Given the description of an element on the screen output the (x, y) to click on. 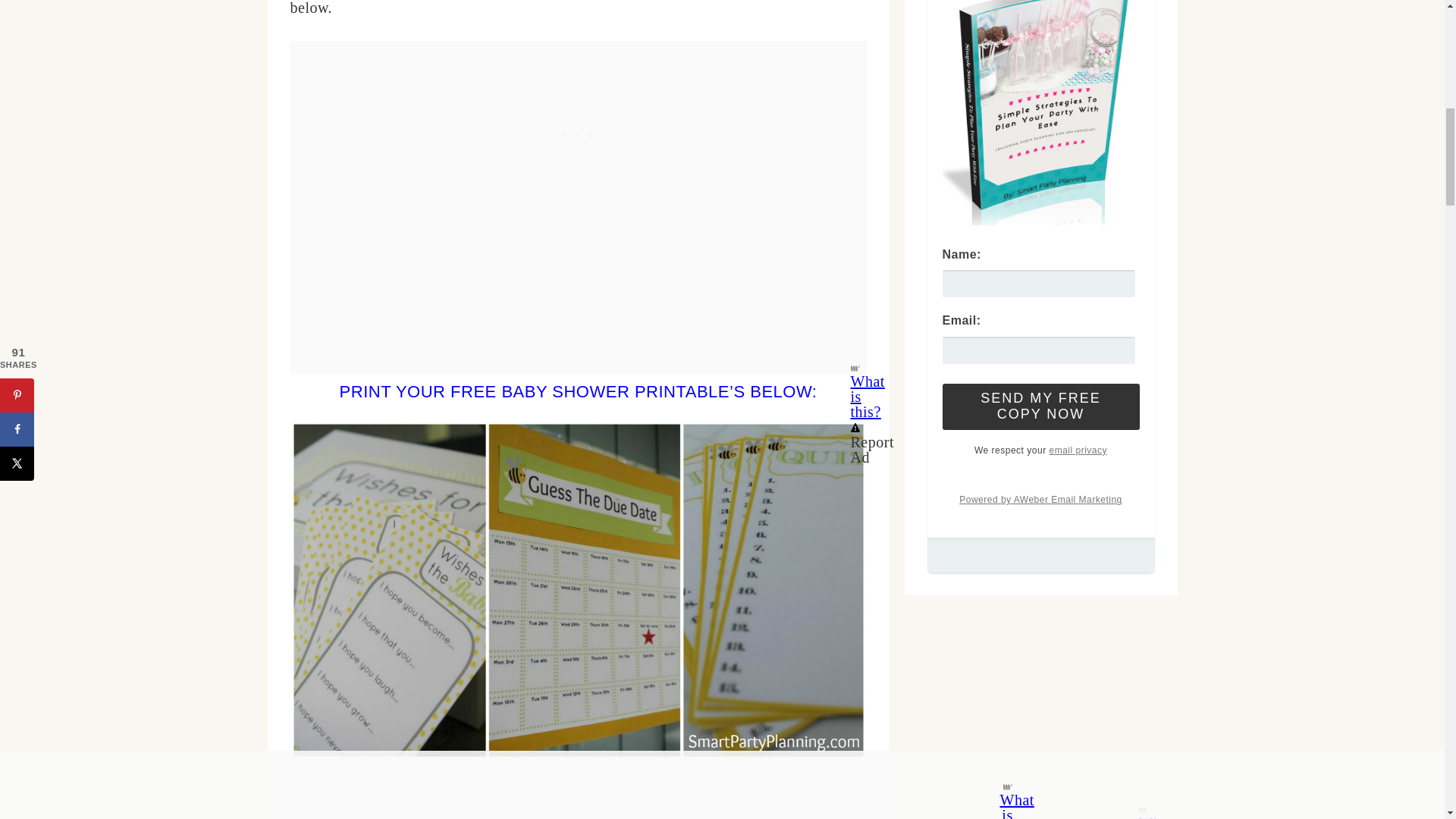
3rd party ad content (577, 800)
AWeber Email Marketing (1040, 499)
Send My FREE Copy NOW (1040, 406)
3rd party ad content (577, 135)
Privacy Policy (1077, 450)
